Given the description of an element on the screen output the (x, y) to click on. 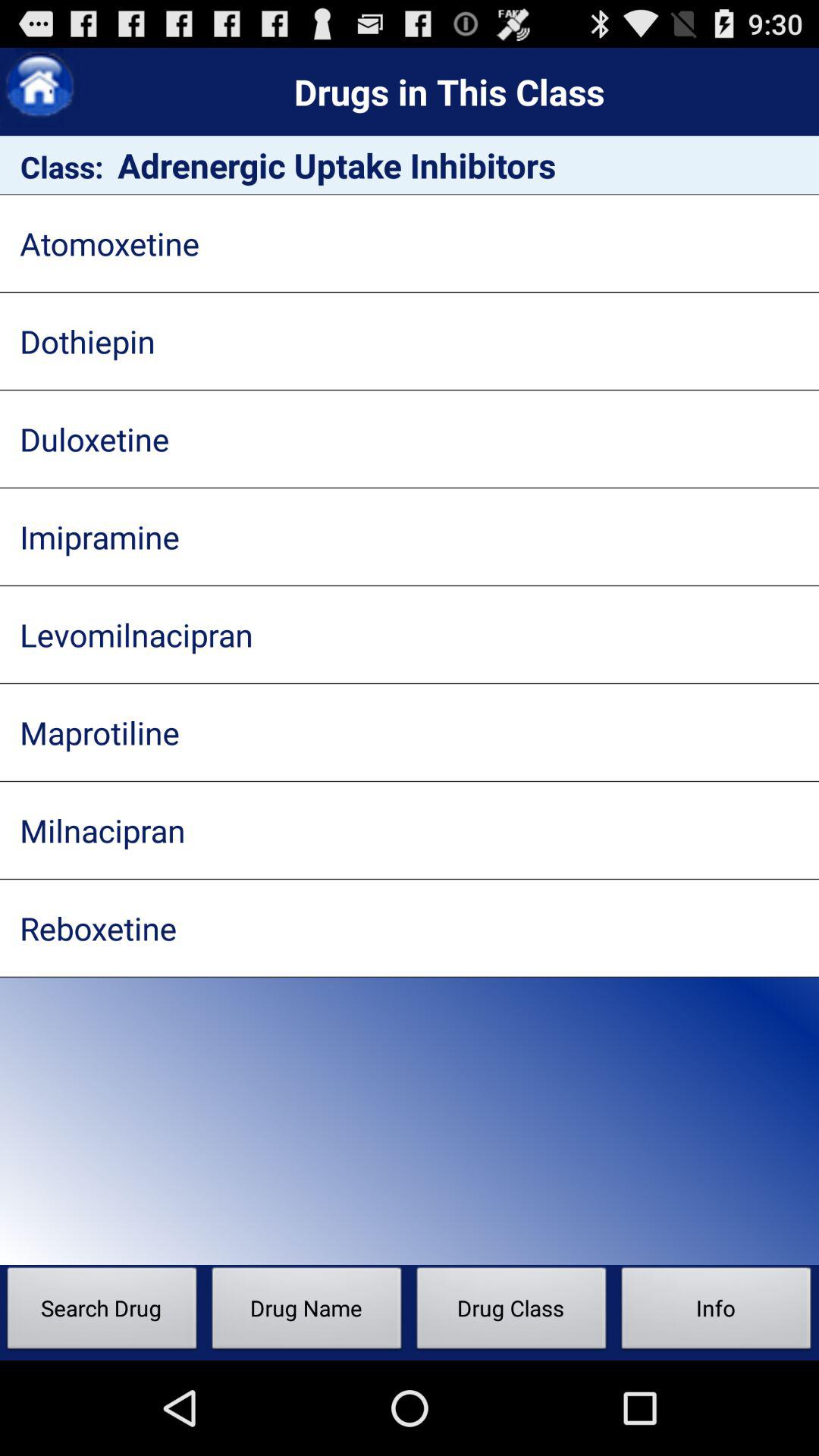
home page (39, 87)
